Given the description of an element on the screen output the (x, y) to click on. 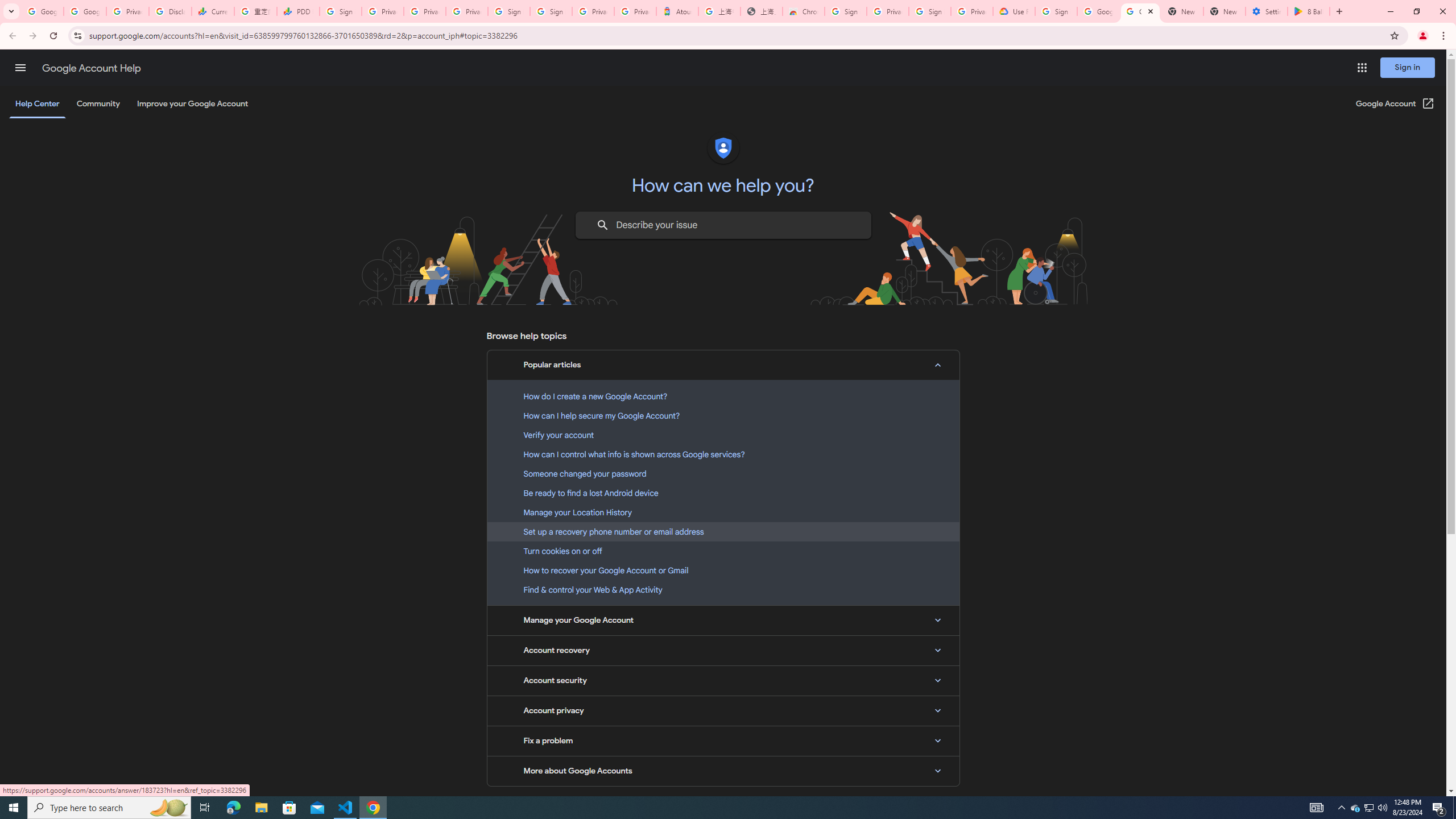
Google Account (Open in a new window) (1395, 103)
Main menu (20, 67)
Popular articles, Expanded list with 11 items (722, 365)
Google Account Help (1097, 11)
Sign in - Google Accounts (1055, 11)
Sign in - Google Accounts (340, 11)
8 Ball Pool - Apps on Google Play (1308, 11)
How do I create a new Google Account? (722, 396)
Account security (722, 680)
Sign in - Google Accounts (509, 11)
